Given the description of an element on the screen output the (x, y) to click on. 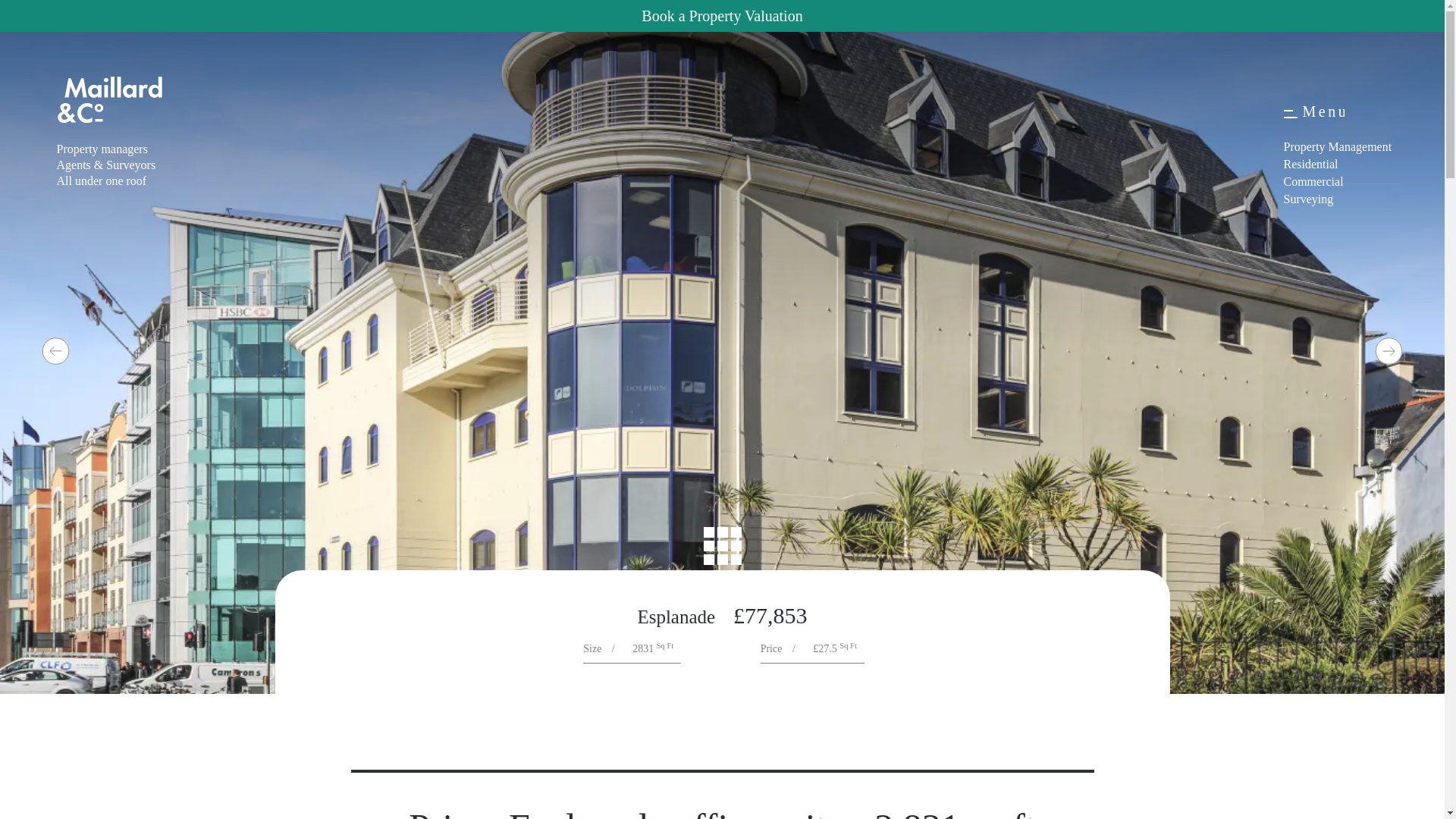
Property Management (1312, 114)
Commercial (1347, 146)
Surveying (1347, 181)
Residential (1347, 199)
